Given the description of an element on the screen output the (x, y) to click on. 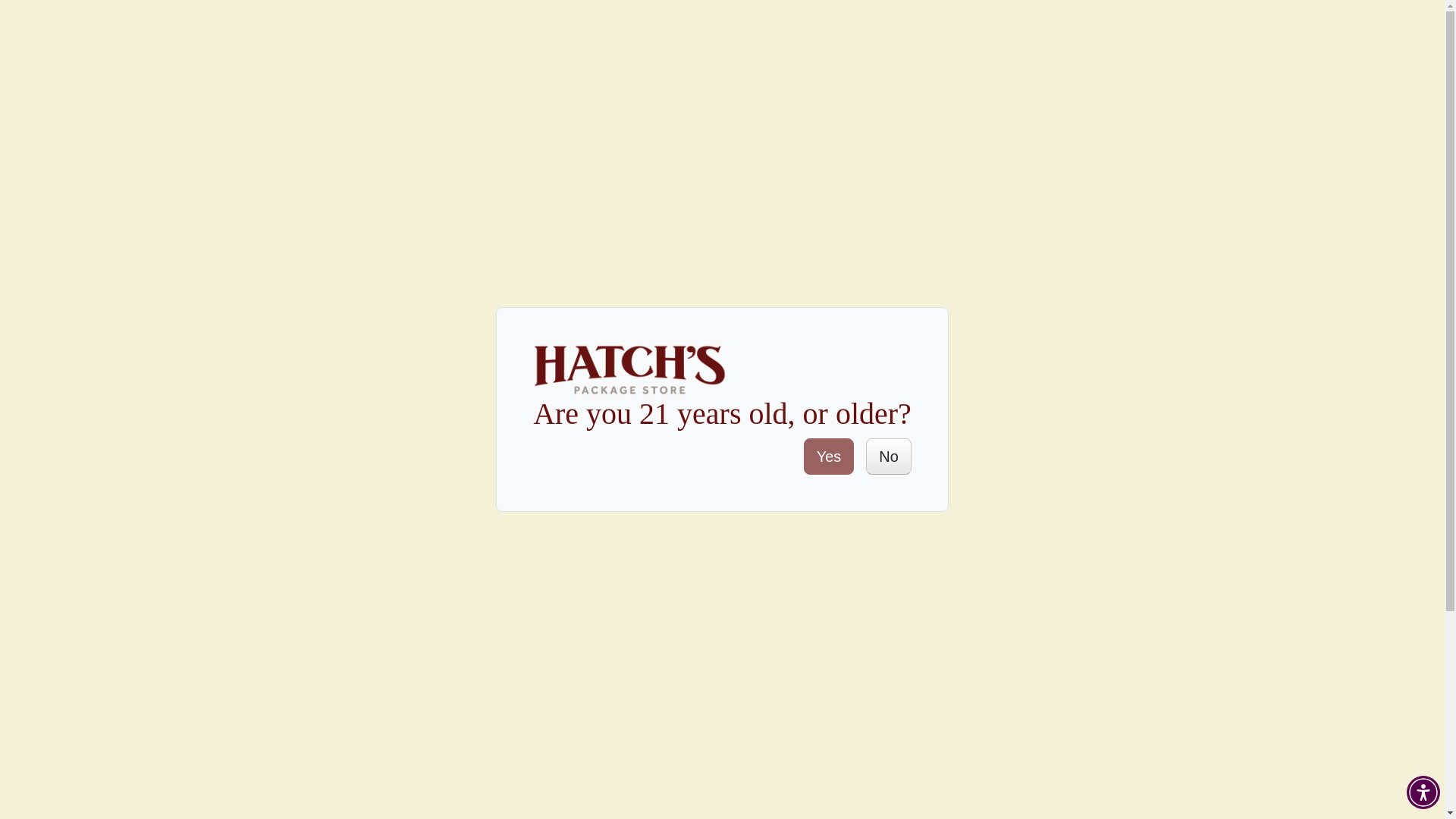
Wine (242, 28)
Accessibility Menu (1422, 792)
Home (195, 28)
